Given the description of an element on the screen output the (x, y) to click on. 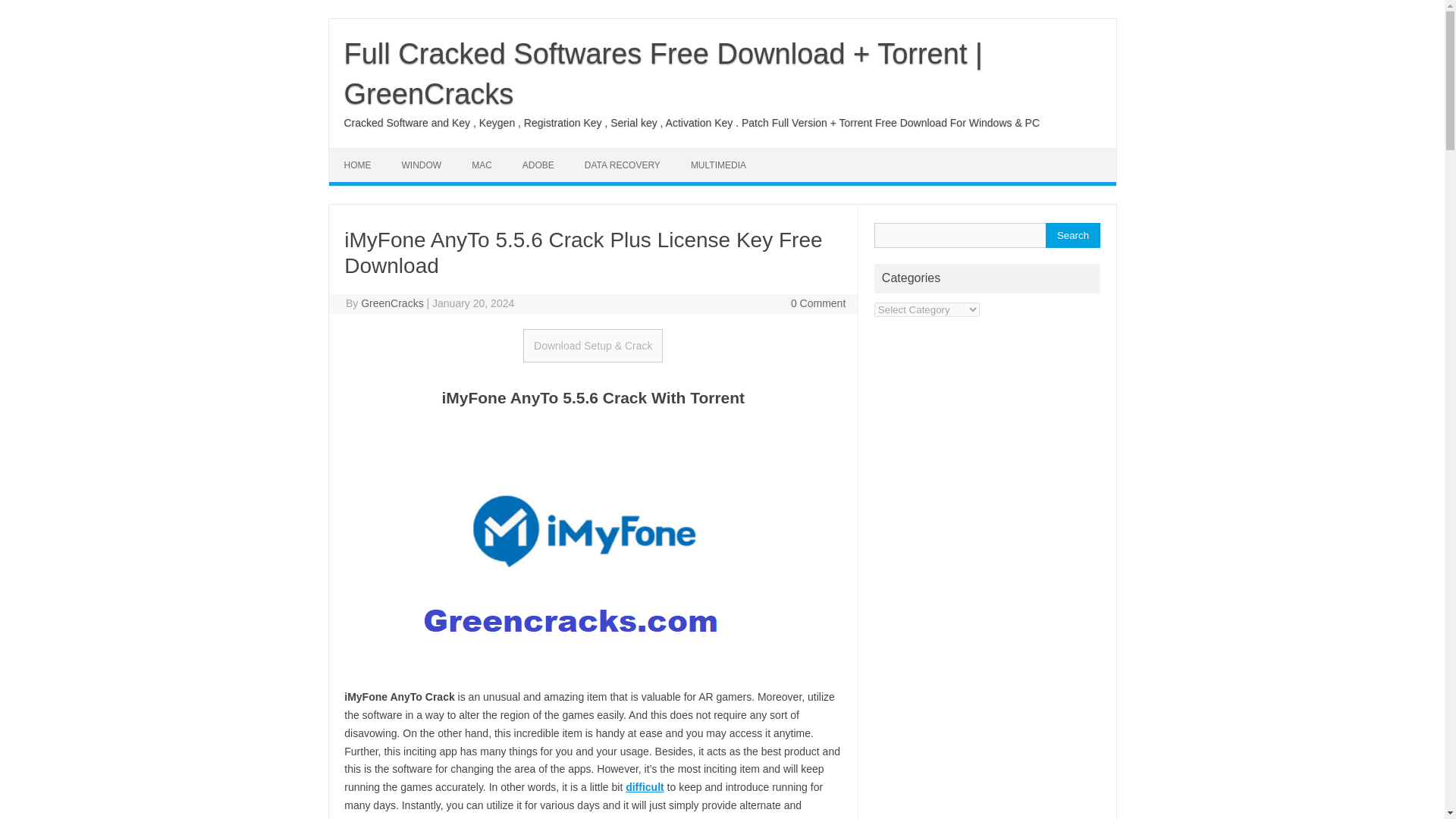
ADOBE (537, 164)
MAC (481, 164)
HOME (358, 164)
MULTIMEDIA (718, 164)
WINDOW (422, 164)
difficult (644, 787)
0 Comment (817, 303)
GreenCracks (392, 303)
